Given the description of an element on the screen output the (x, y) to click on. 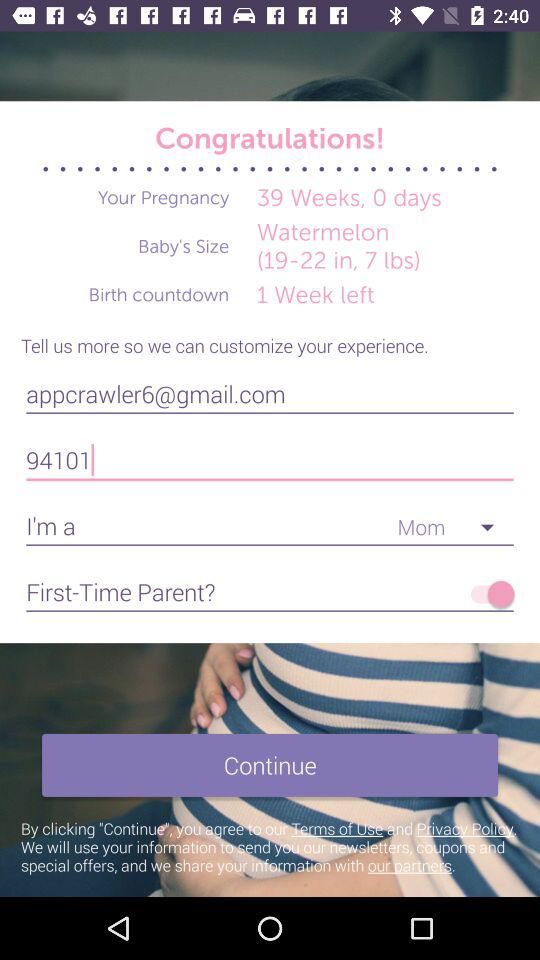
jump to appcrawler6@gmail.com icon (270, 394)
